Given the description of an element on the screen output the (x, y) to click on. 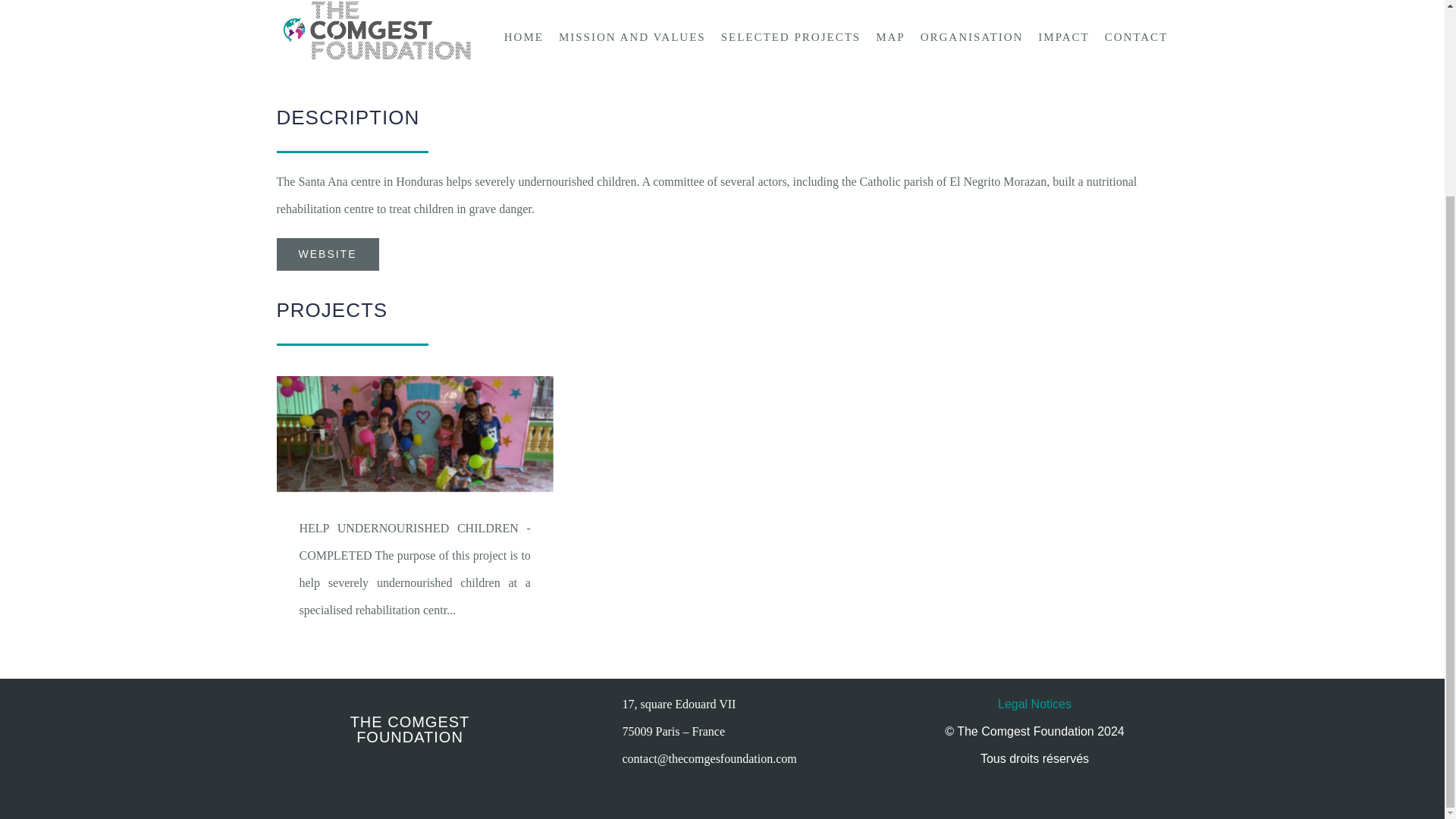
Logo AOAH-Capture (722, 34)
Legal Notices (1034, 703)
WEBSITE (327, 254)
